Given the description of an element on the screen output the (x, y) to click on. 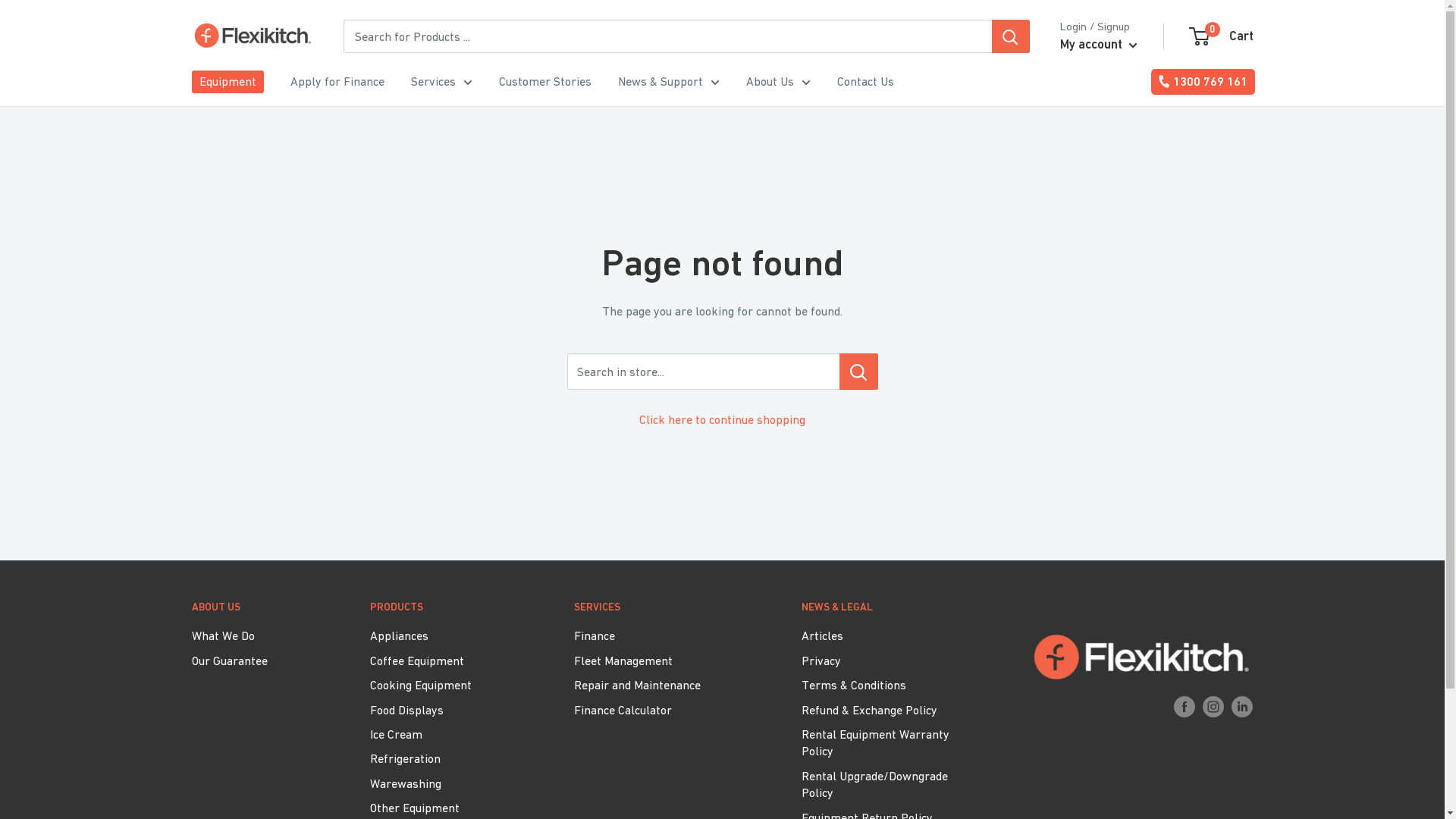
News & Support Element type: text (667, 81)
Finance Element type: text (661, 635)
What We Do Element type: text (253, 635)
Food Displays Element type: text (445, 709)
Articles Element type: text (888, 635)
Ice Cream Element type: text (445, 733)
0
Cart Element type: text (1221, 36)
SERVICES Element type: text (661, 607)
Our Guarantee Element type: text (253, 660)
Refrigeration Element type: text (445, 758)
Apply for Finance Element type: text (336, 81)
Finance Calculator Element type: text (661, 709)
Repair and Maintenance Element type: text (661, 684)
PRODUCTS Element type: text (445, 607)
Rental Equipment Warranty Policy Element type: text (888, 742)
Coffee Equipment Element type: text (445, 660)
Warewashing Element type: text (445, 783)
Cooking Equipment Element type: text (445, 684)
Rental Upgrade/Downgrade Policy Element type: text (888, 784)
Services Element type: text (441, 81)
My account Element type: text (1098, 44)
Flexikitch Element type: text (251, 36)
NEWS & LEGAL Element type: text (888, 607)
Terms & Conditions Element type: text (888, 684)
Contact Us Element type: text (865, 81)
About Us Element type: text (778, 81)
Appliances Element type: text (445, 635)
Refund & Exchange Policy Element type: text (888, 709)
Privacy Element type: text (888, 660)
Customer Stories Element type: text (544, 81)
ABOUT US Element type: text (253, 607)
Click here to continue shopping Element type: text (722, 419)
Fleet Management Element type: text (661, 660)
Equipment Element type: text (227, 81)
